Given the description of an element on the screen output the (x, y) to click on. 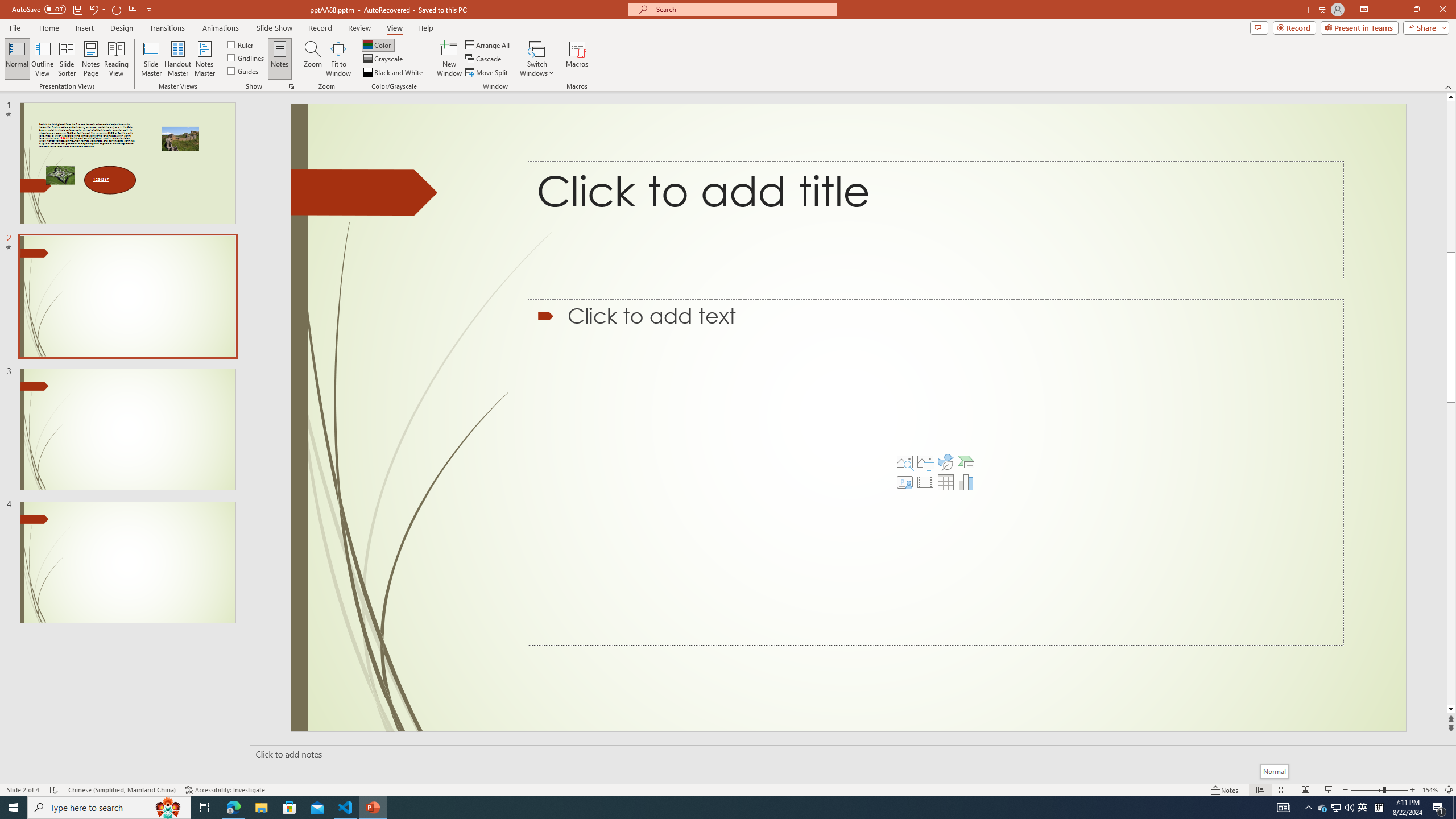
Title TextBox (935, 220)
Ruler (241, 44)
Insert Video (924, 482)
